Given the description of an element on the screen output the (x, y) to click on. 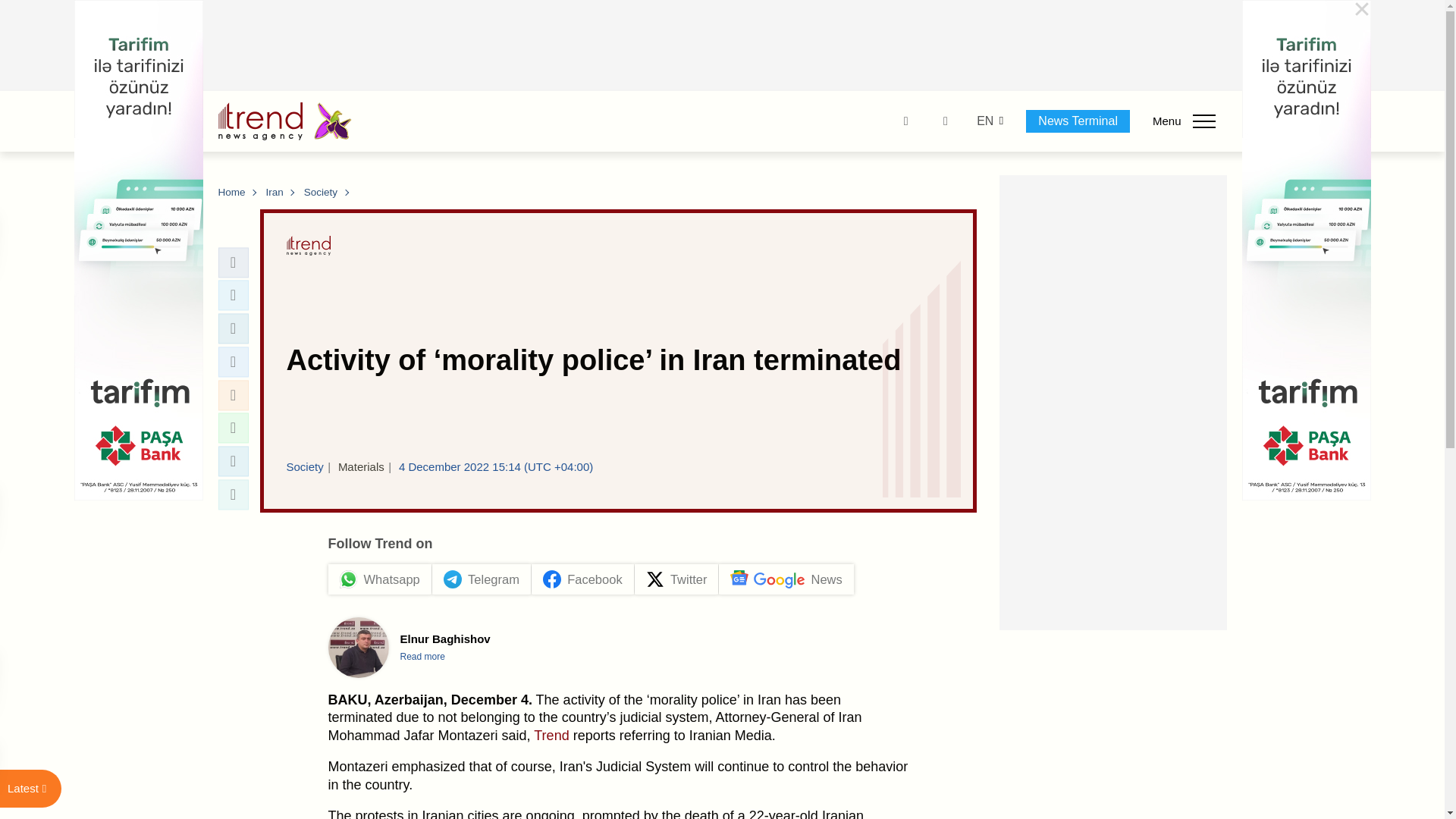
3rd party ad content (722, 45)
English (984, 121)
News Terminal (1077, 120)
EN (984, 121)
